Given the description of an element on the screen output the (x, y) to click on. 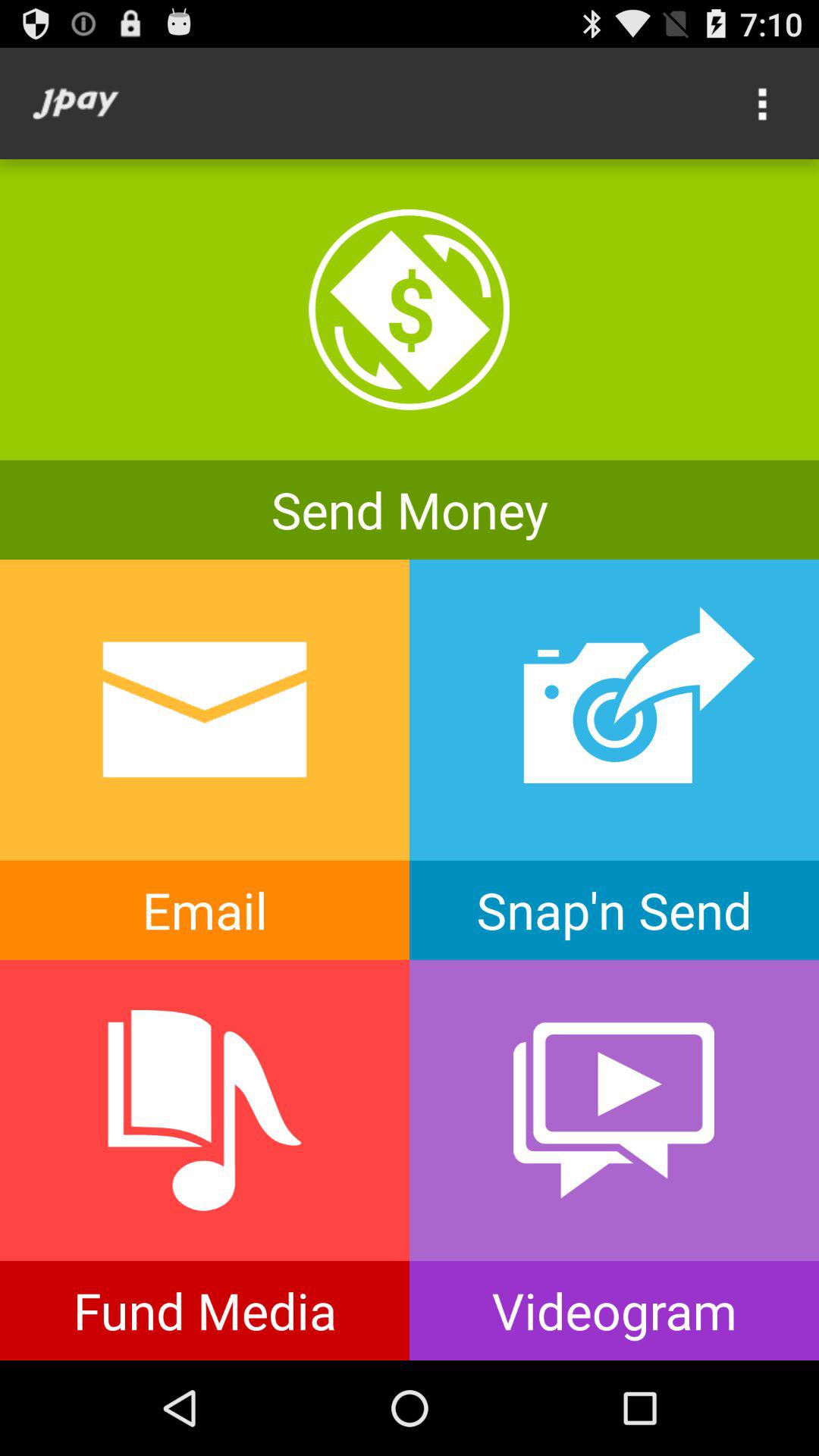
email the article (204, 759)
